Given the description of an element on the screen output the (x, y) to click on. 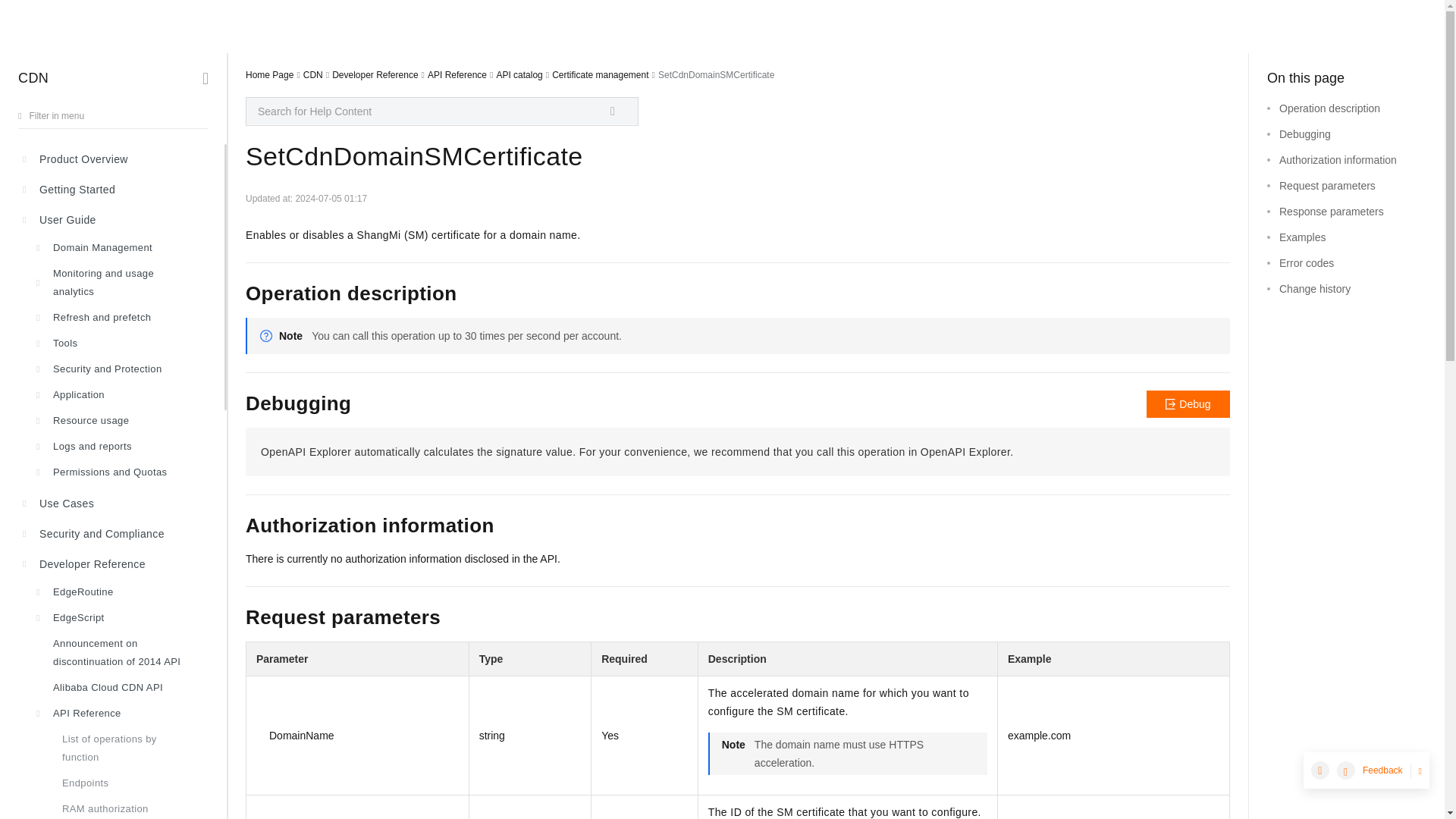
Alibaba Cloud CDN API (117, 687)
Permissions and Quotas (117, 472)
Application (117, 394)
CDN (32, 77)
RAM authorization (117, 807)
Developer Reference (117, 563)
Domain Management (117, 248)
Use Cases (117, 503)
Endpoints (117, 783)
Tools (117, 343)
API Reference (117, 713)
Security and Protection (117, 369)
EdgeRoutine (117, 592)
EdgeScript (117, 617)
Monitoring and usage analytics (117, 282)
